Given the description of an element on the screen output the (x, y) to click on. 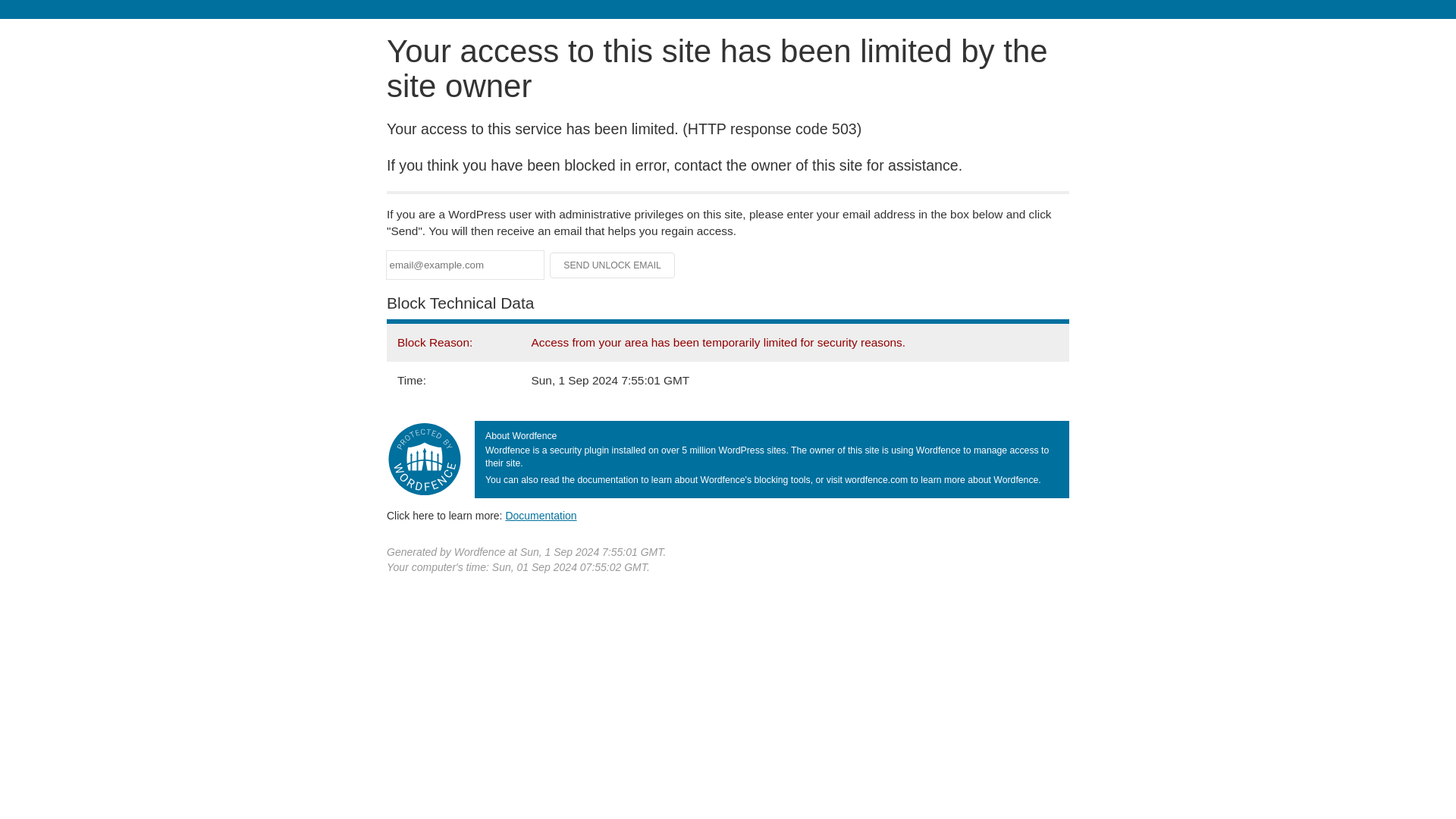
Send Unlock Email (612, 265)
Send Unlock Email (612, 265)
Documentation (540, 515)
